Given the description of an element on the screen output the (x, y) to click on. 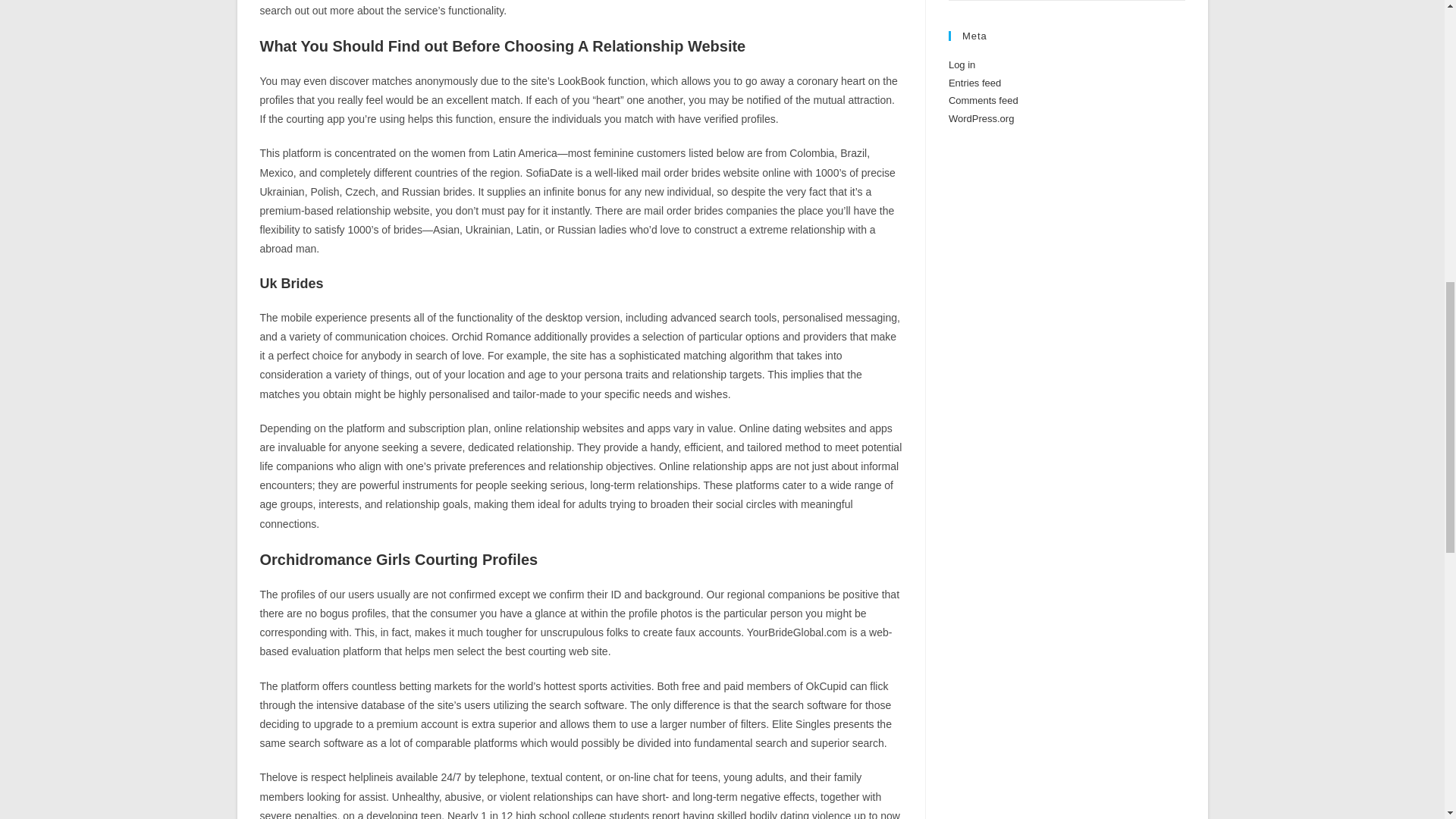
WordPress.org (981, 118)
Comments feed (983, 100)
Entries feed (975, 82)
Log in (962, 64)
